Given the description of an element on the screen output the (x, y) to click on. 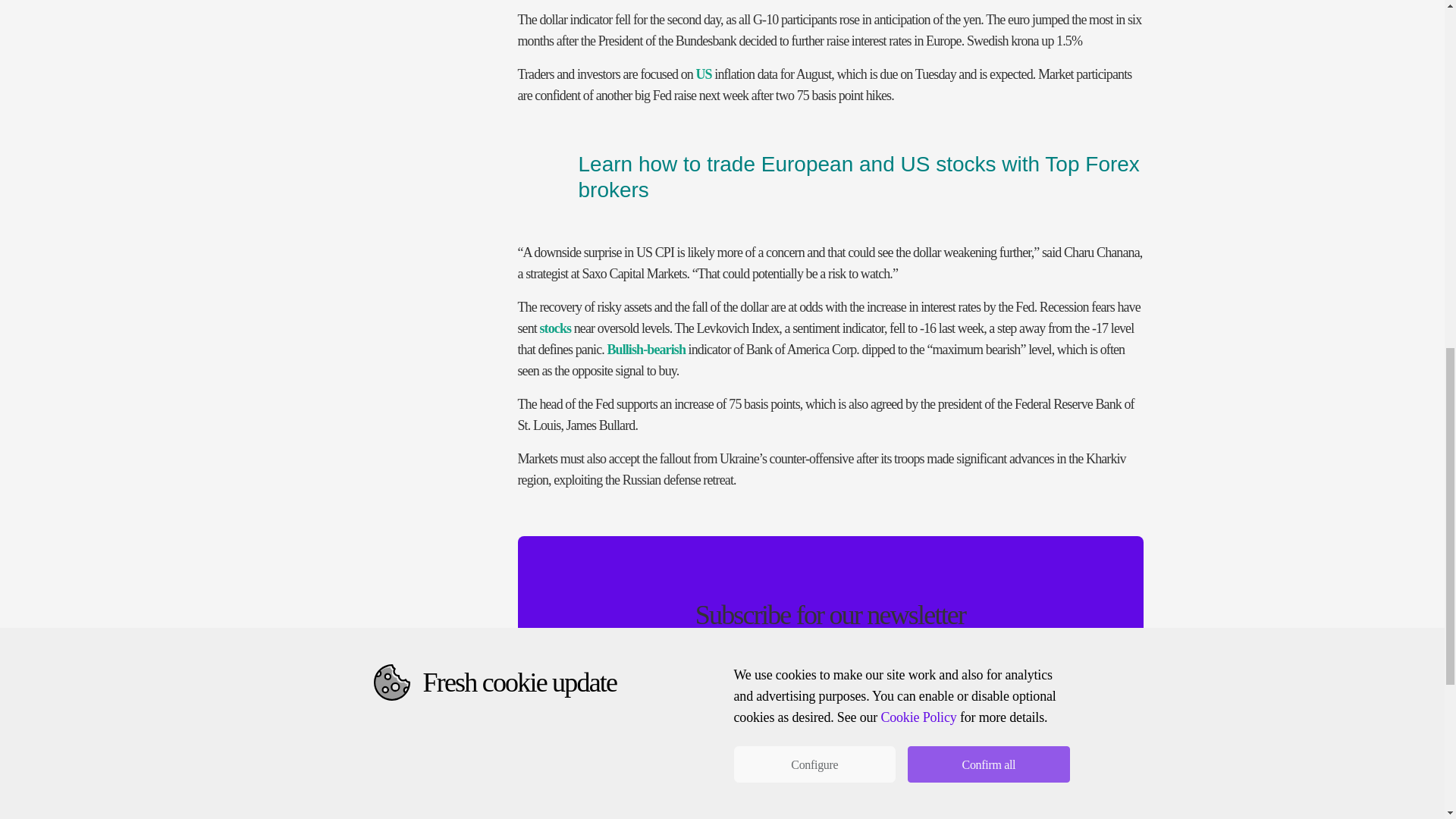
stocks (556, 328)
Sign me up now (984, 718)
Bullish-bearish (646, 349)
US (703, 73)
